Given the description of an element on the screen output the (x, y) to click on. 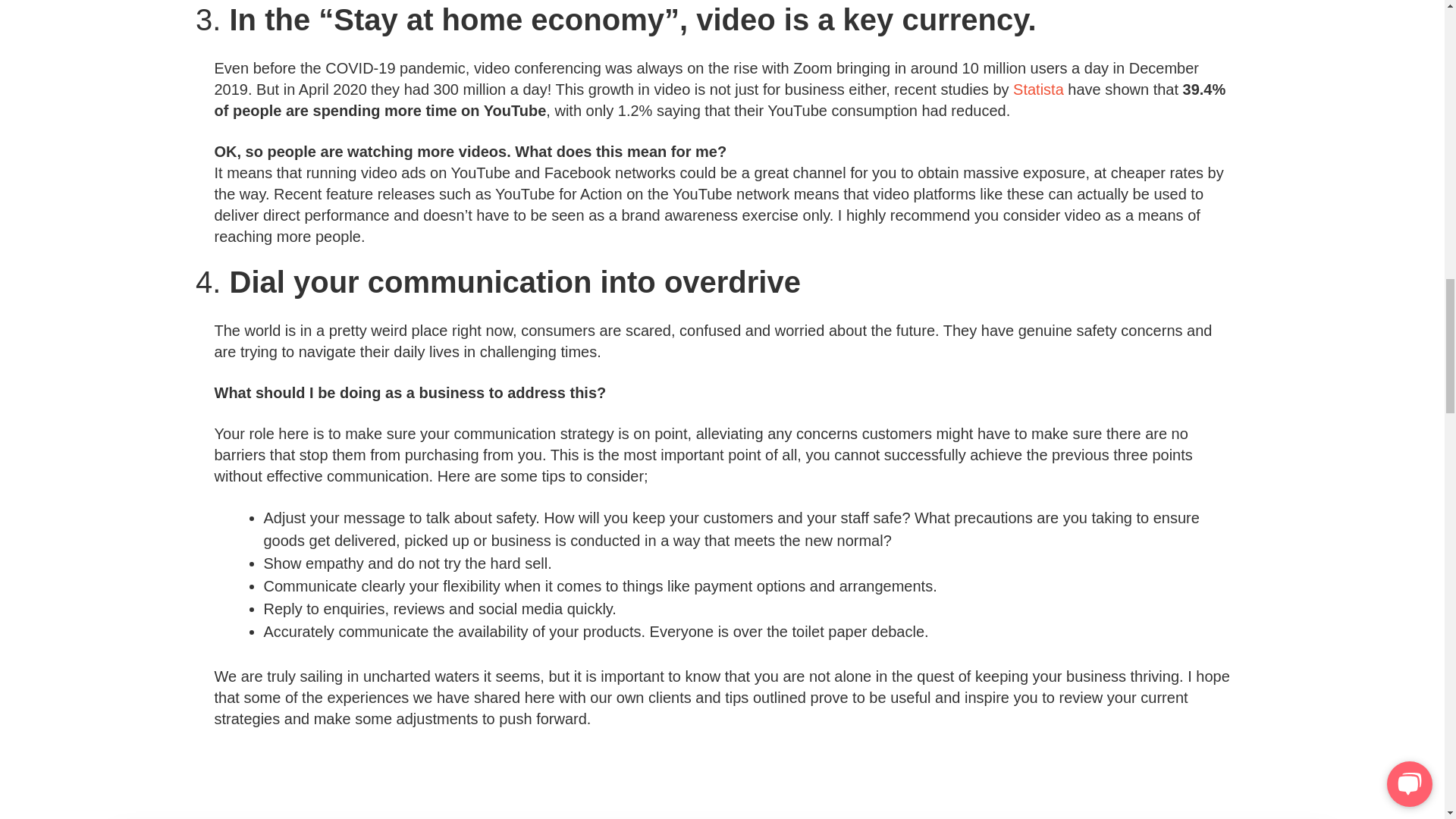
Statista (1038, 89)
